Given the description of an element on the screen output the (x, y) to click on. 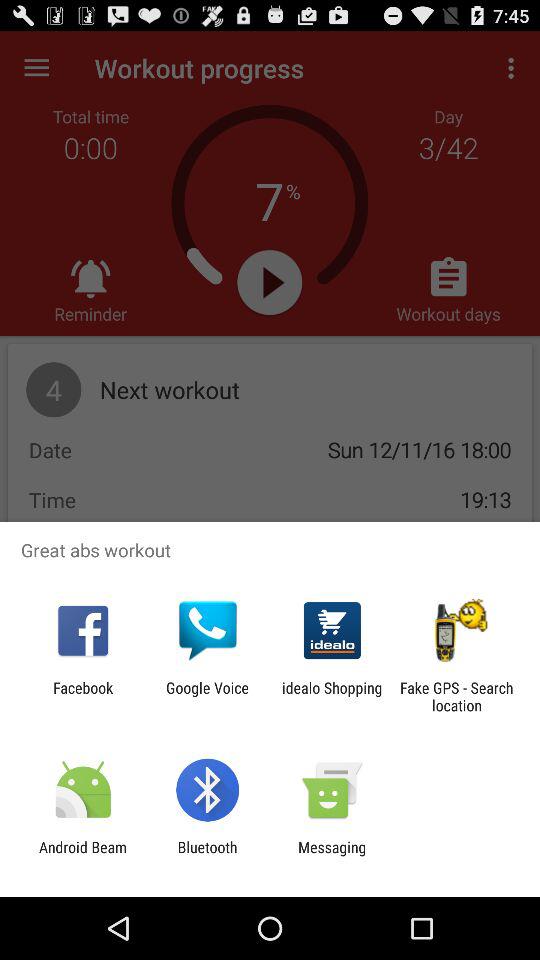
flip until idealo shopping item (331, 696)
